Given the description of an element on the screen output the (x, y) to click on. 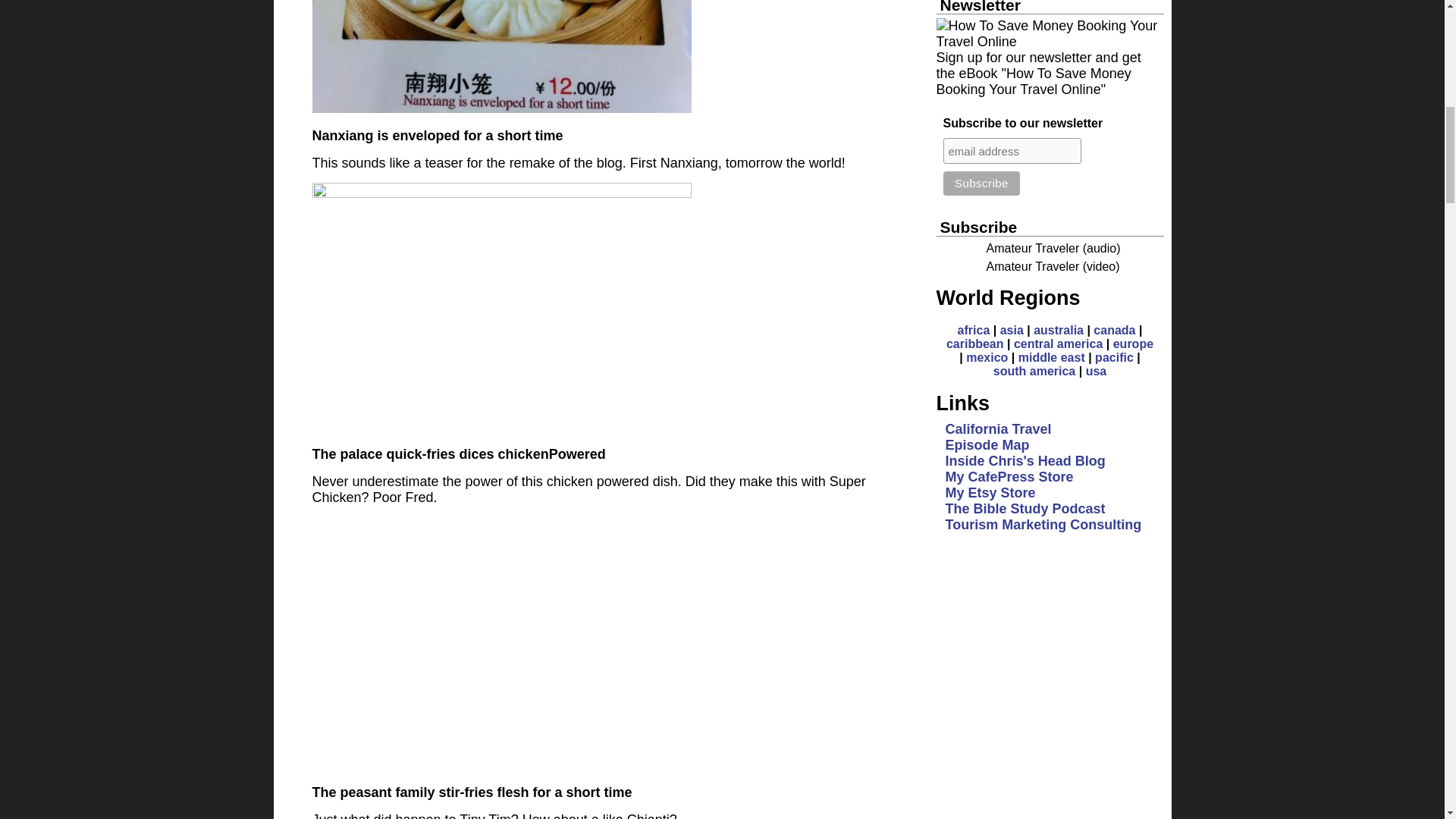
Subscribe (981, 183)
